Given the description of an element on the screen output the (x, y) to click on. 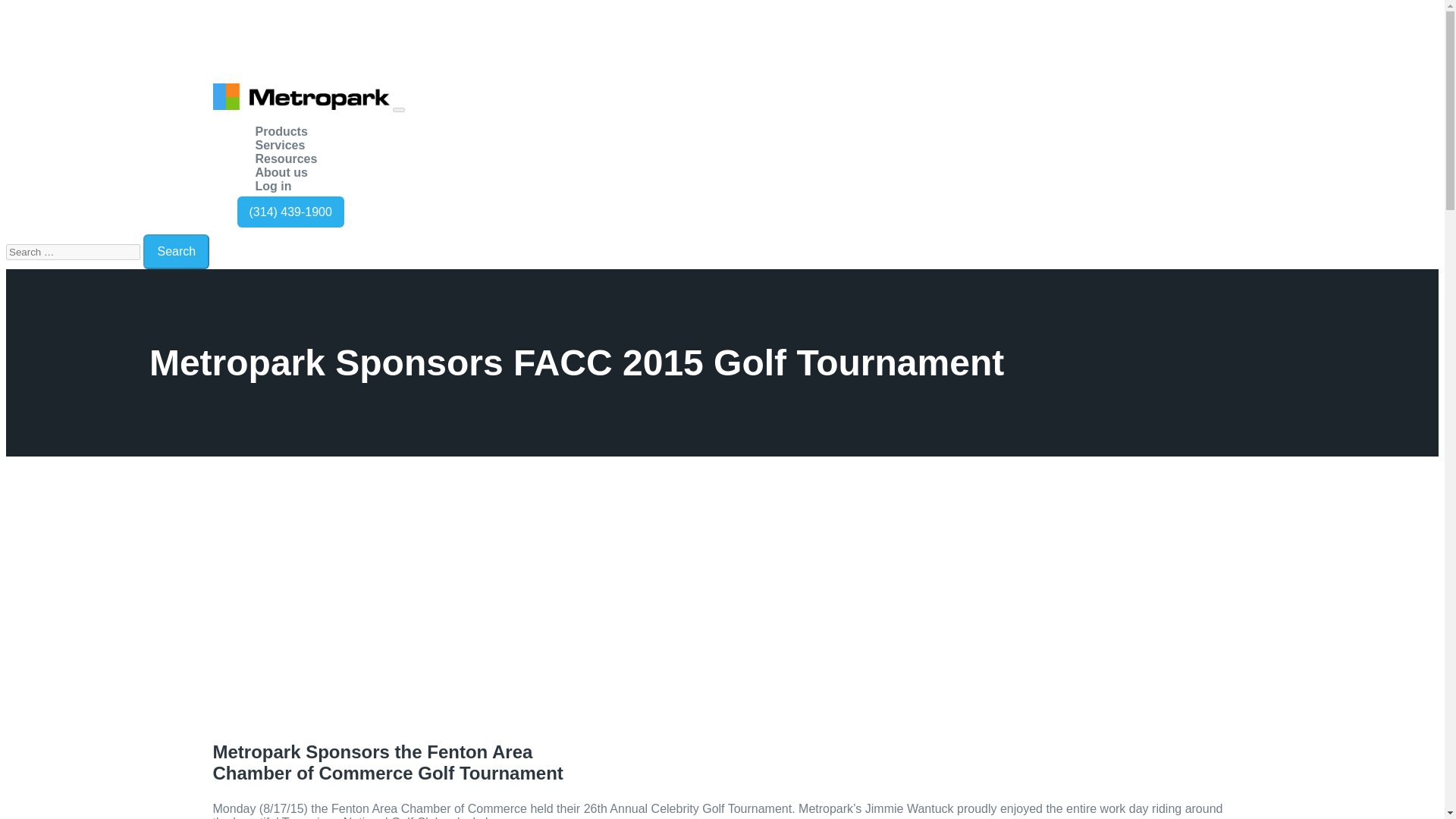
Resources (285, 158)
Services (279, 144)
Search for: (72, 252)
Products (280, 131)
